Given the description of an element on the screen output the (x, y) to click on. 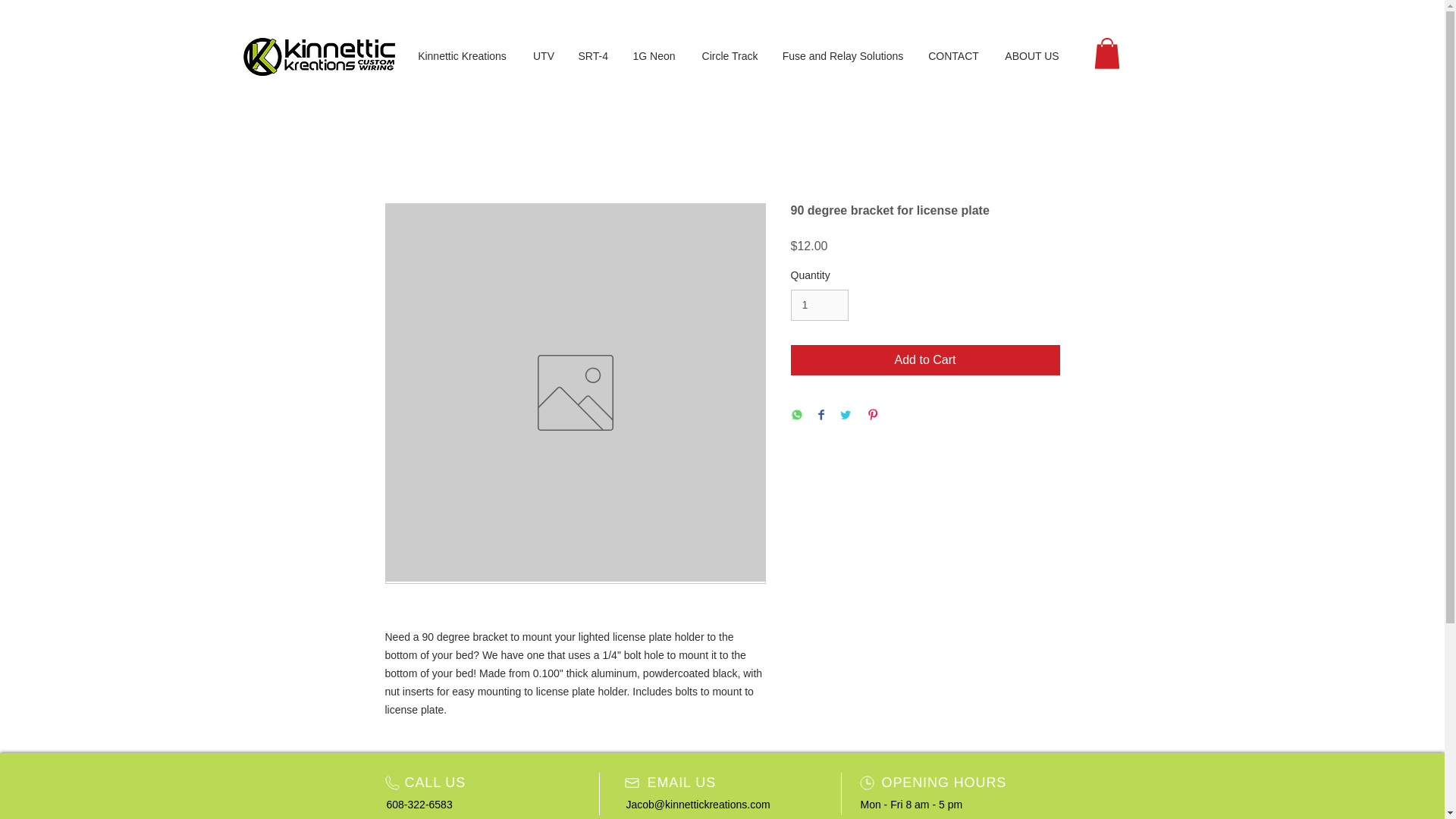
Kinnettic Kreations (461, 55)
1 (818, 305)
ABOUT US (1031, 55)
Fuse and Relay Solutions (842, 55)
Add to Cart (924, 359)
SRT-4 (593, 55)
UTV (542, 55)
Circle Track (729, 55)
1G Neon (653, 55)
CONTACT (952, 55)
